Given the description of an element on the screen output the (x, y) to click on. 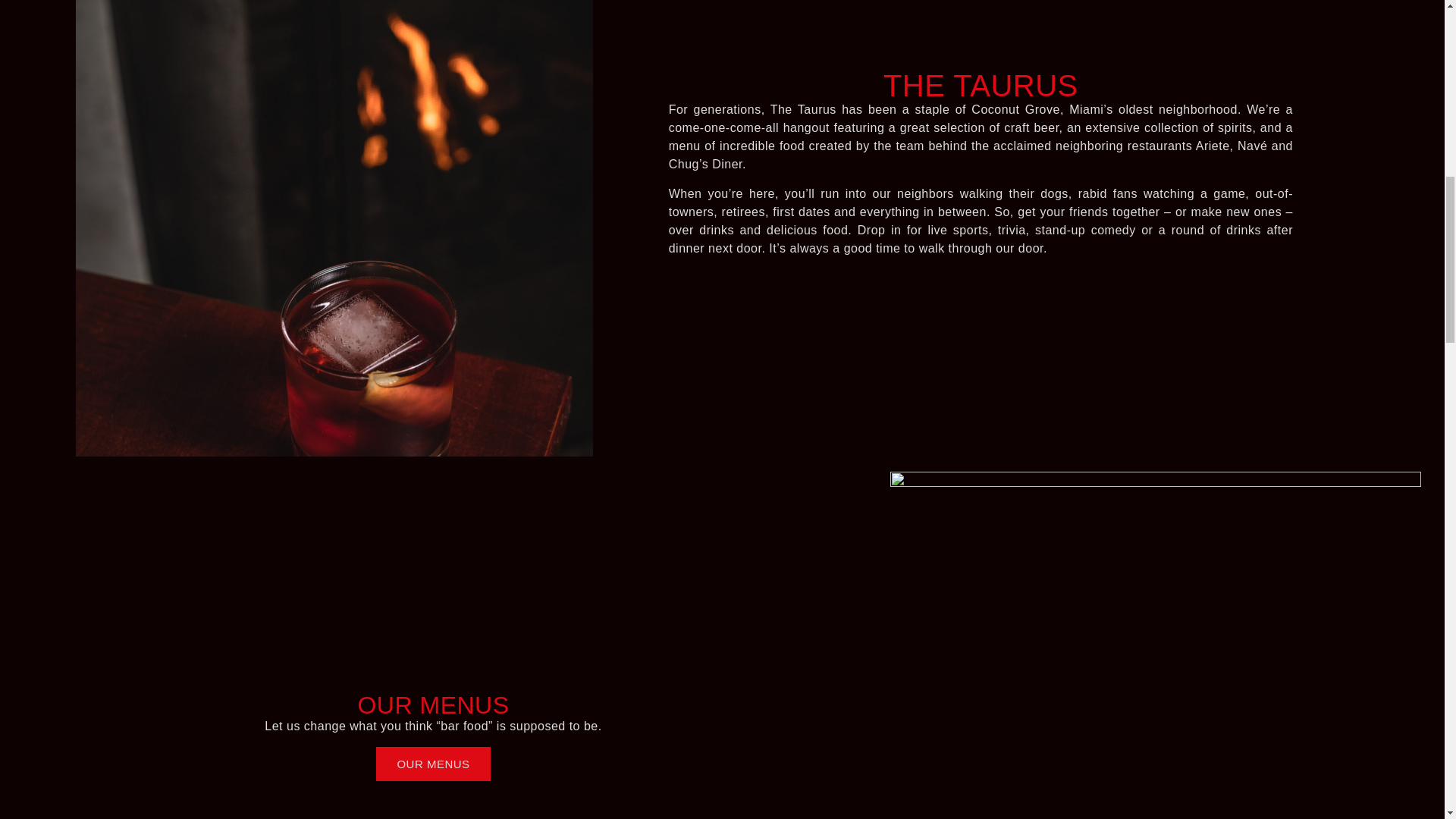
OUR MENUS (432, 763)
